Given the description of an element on the screen output the (x, y) to click on. 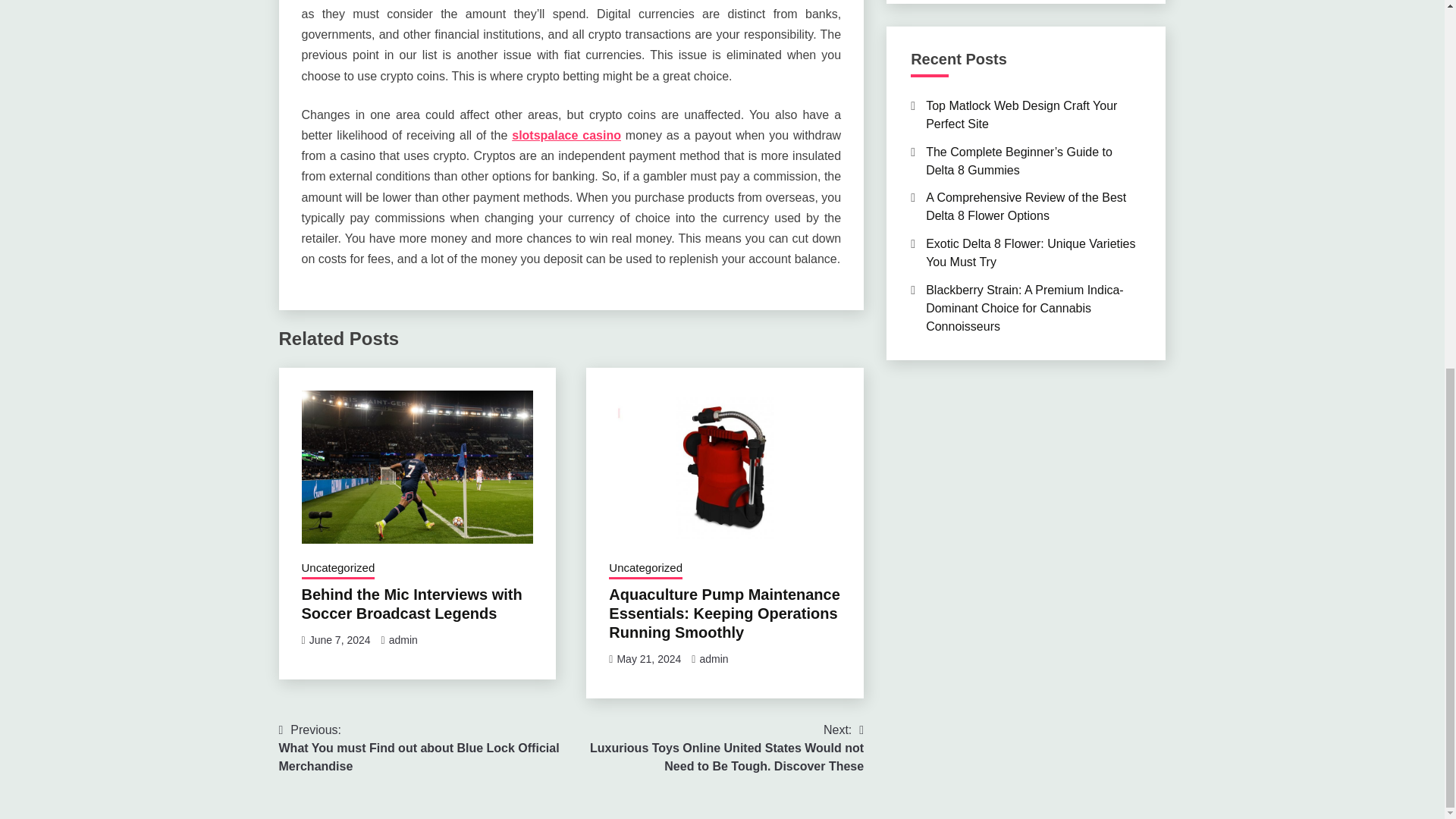
Behind the Mic Interviews with Soccer Broadcast Legends (411, 603)
Uncategorized (338, 569)
slotspalace casino (566, 134)
June 7, 2024 (339, 639)
admin (713, 658)
Uncategorized (645, 569)
May 21, 2024 (648, 658)
admin (402, 639)
